Given the description of an element on the screen output the (x, y) to click on. 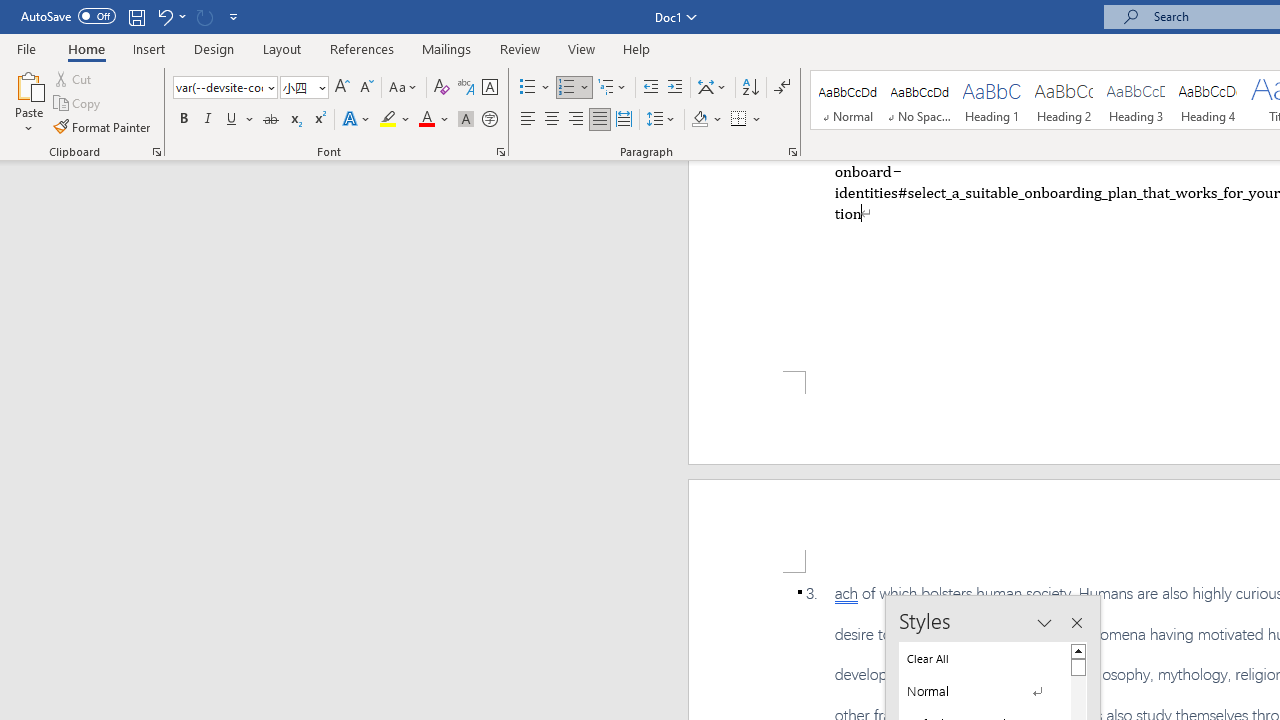
Text Highlight Color (395, 119)
Shading RGB(0, 0, 0) (699, 119)
Borders (739, 119)
Decrease Indent (650, 87)
Review (520, 48)
Underline (232, 119)
Quick Access Toolbar (131, 16)
Align Right (575, 119)
Show/Hide Editing Marks (781, 87)
Line and Paragraph Spacing (661, 119)
Shrink Font (365, 87)
Justify (599, 119)
Home (86, 48)
Copy (78, 103)
Strikethrough (270, 119)
